Given the description of an element on the screen output the (x, y) to click on. 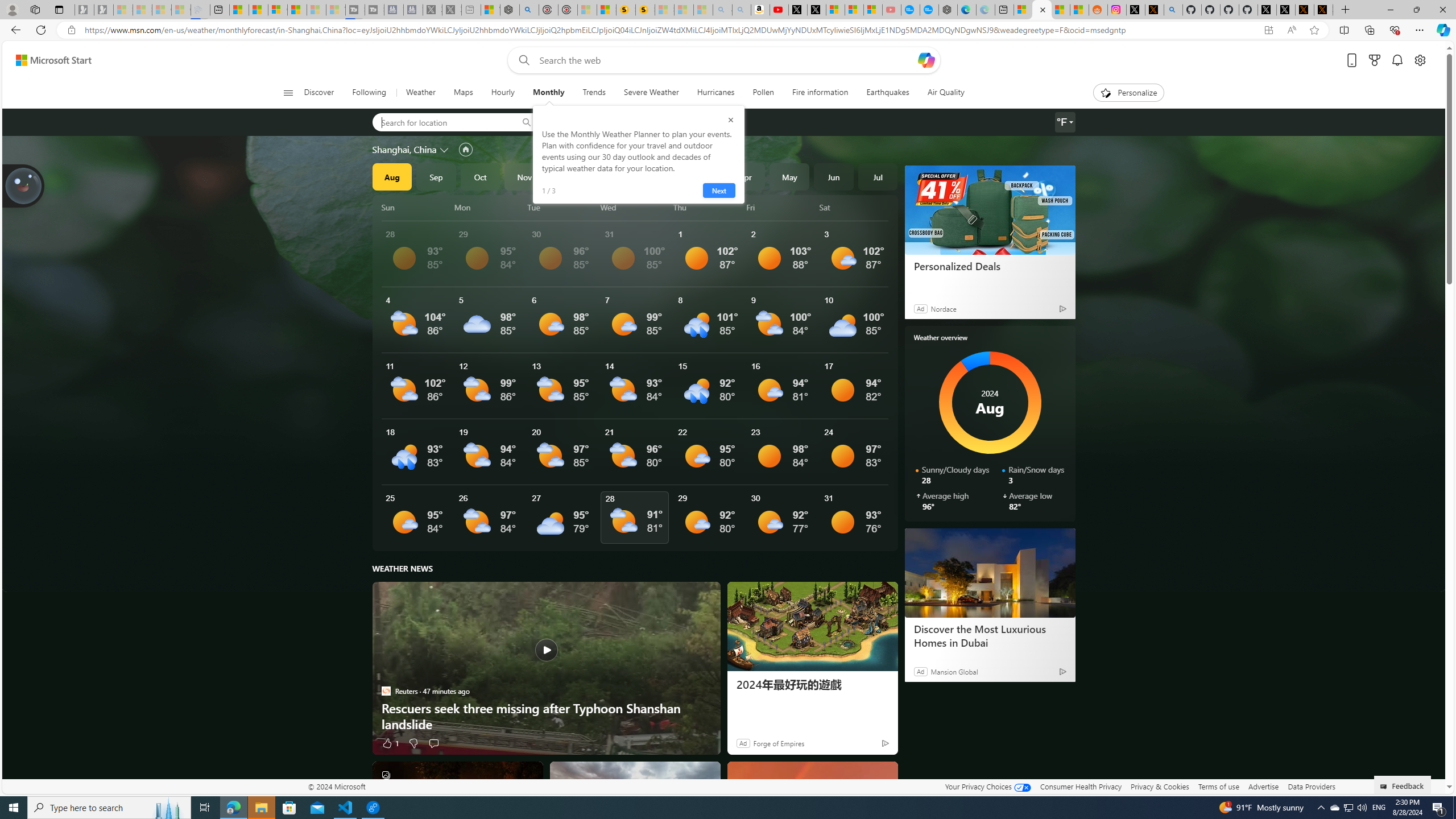
Reuters (385, 690)
Change location (445, 149)
Feb (657, 176)
Set as primary location (465, 149)
Your Privacy Choices (987, 785)
Air Quality (945, 92)
